Given the description of an element on the screen output the (x, y) to click on. 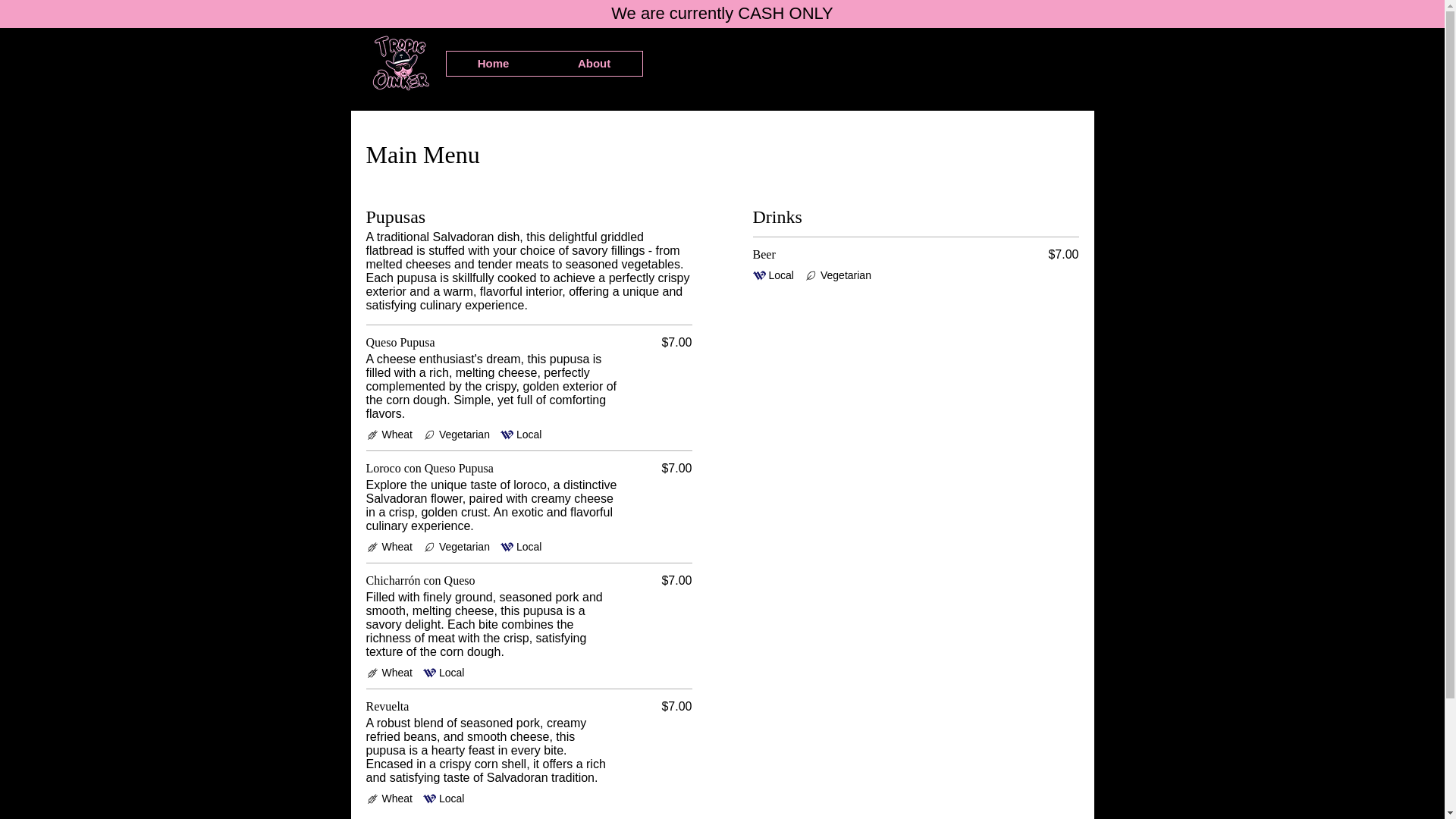
Check (506, 434)
About (594, 63)
Check (429, 434)
Check (429, 798)
Check (371, 434)
Check (810, 275)
Check (371, 798)
Check (506, 546)
Check (371, 546)
Check (758, 275)
Check (371, 672)
Check (429, 546)
Home (492, 63)
Check (429, 672)
